Given the description of an element on the screen output the (x, y) to click on. 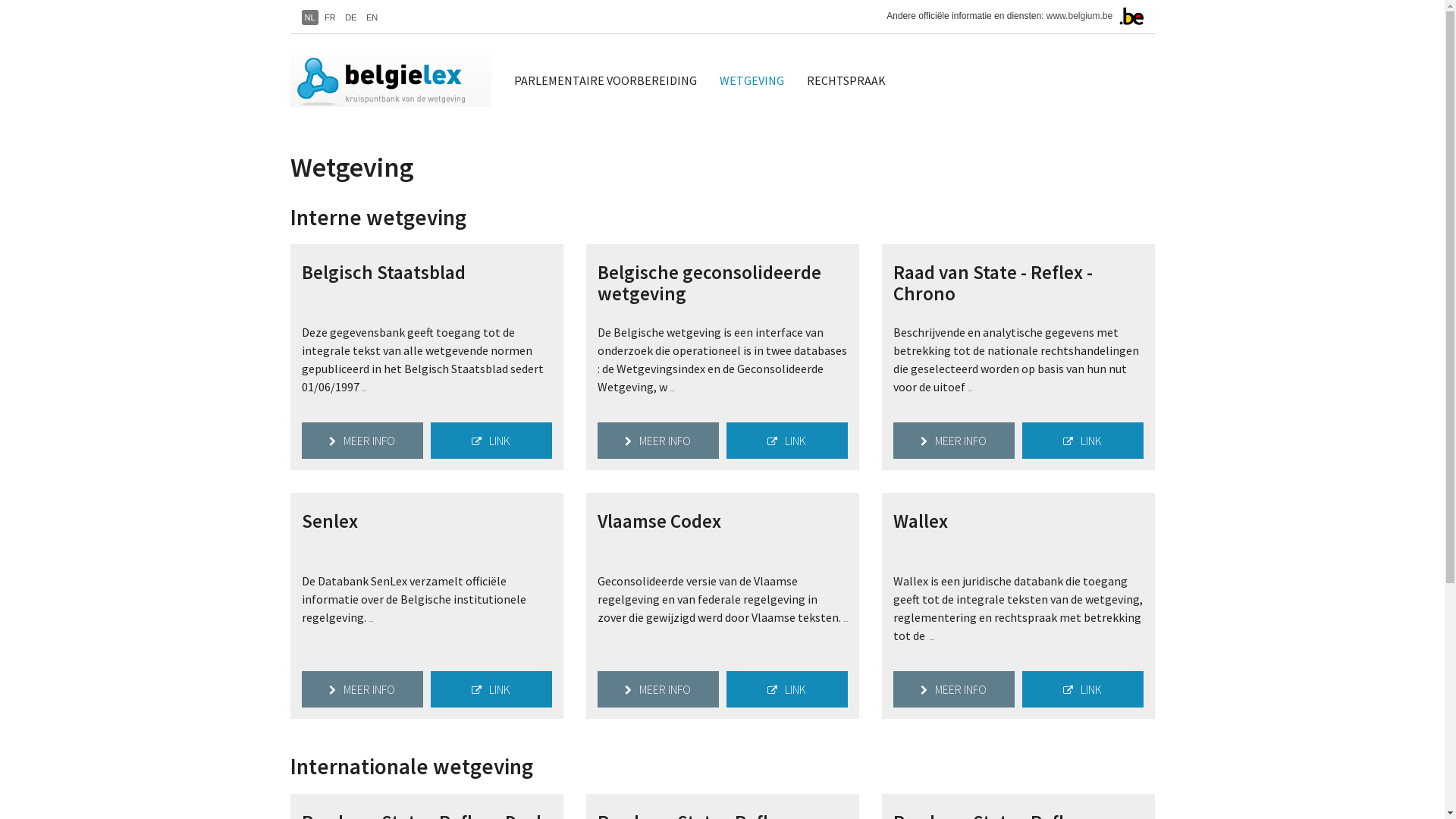
MEER INFO Element type: text (953, 440)
DE Element type: text (350, 17)
Overslaan en naar de inhoud gaan Element type: text (0, 0)
LINK Element type: text (491, 440)
PARLEMENTAIRE VOORBEREIDING Element type: text (604, 80)
Home Element type: hover (395, 79)
RECHTSPRAAK Element type: text (845, 80)
MEER INFO Element type: text (953, 689)
MEER INFO Element type: text (362, 440)
www.belgium.be Element type: text (1079, 15)
FR Element type: text (329, 17)
MEER INFO Element type: text (657, 689)
LINK Element type: text (786, 440)
LINK Element type: text (786, 689)
MEER INFO Element type: text (657, 440)
EN Element type: text (371, 17)
LINK Element type: text (1082, 440)
MEER INFO Element type: text (362, 689)
NL Element type: text (309, 17)
LINK Element type: text (1082, 689)
WETGEVING Element type: text (751, 80)
LINK Element type: text (491, 689)
